Given the description of an element on the screen output the (x, y) to click on. 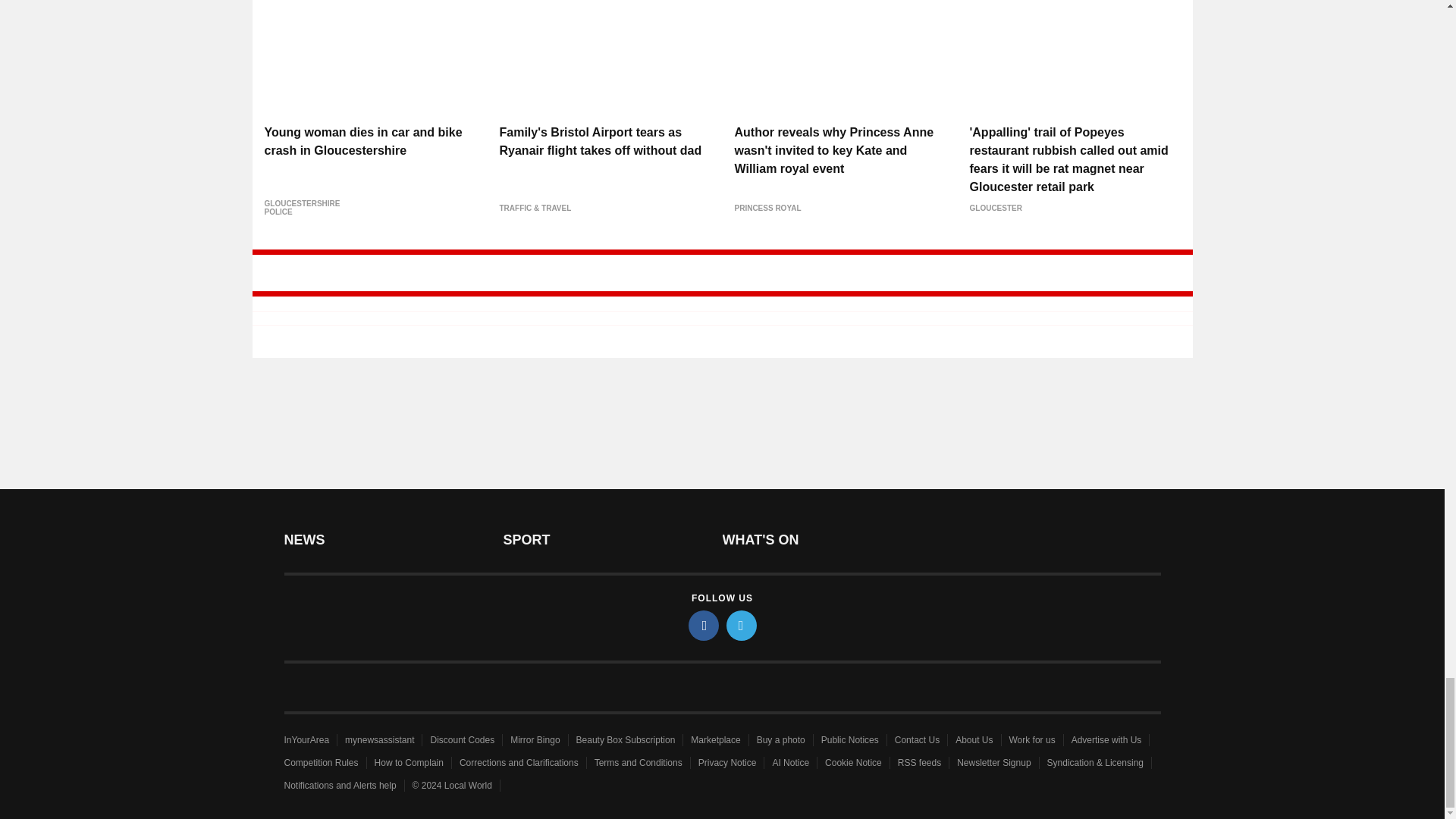
facebook (703, 625)
twitter (741, 625)
